Given the description of an element on the screen output the (x, y) to click on. 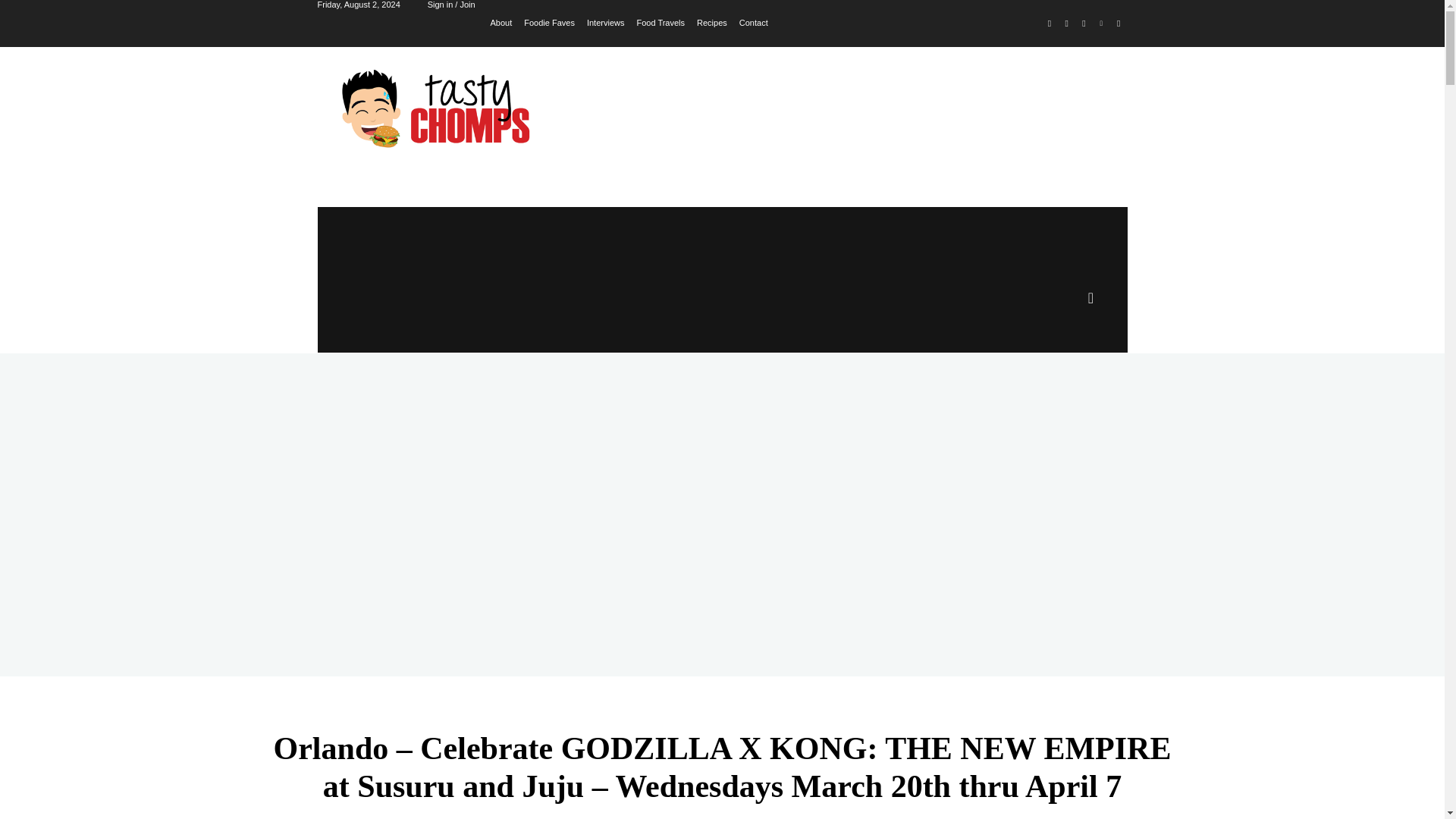
Contact (753, 22)
Instagram (1066, 23)
Recipes (711, 22)
Interviews (605, 22)
Youtube (1117, 23)
About (501, 22)
Foodie Faves (549, 22)
Twitter (1084, 23)
Food Travels (660, 22)
Tasty Chomps Orlando Food Blog (439, 108)
